Given the description of an element on the screen output the (x, y) to click on. 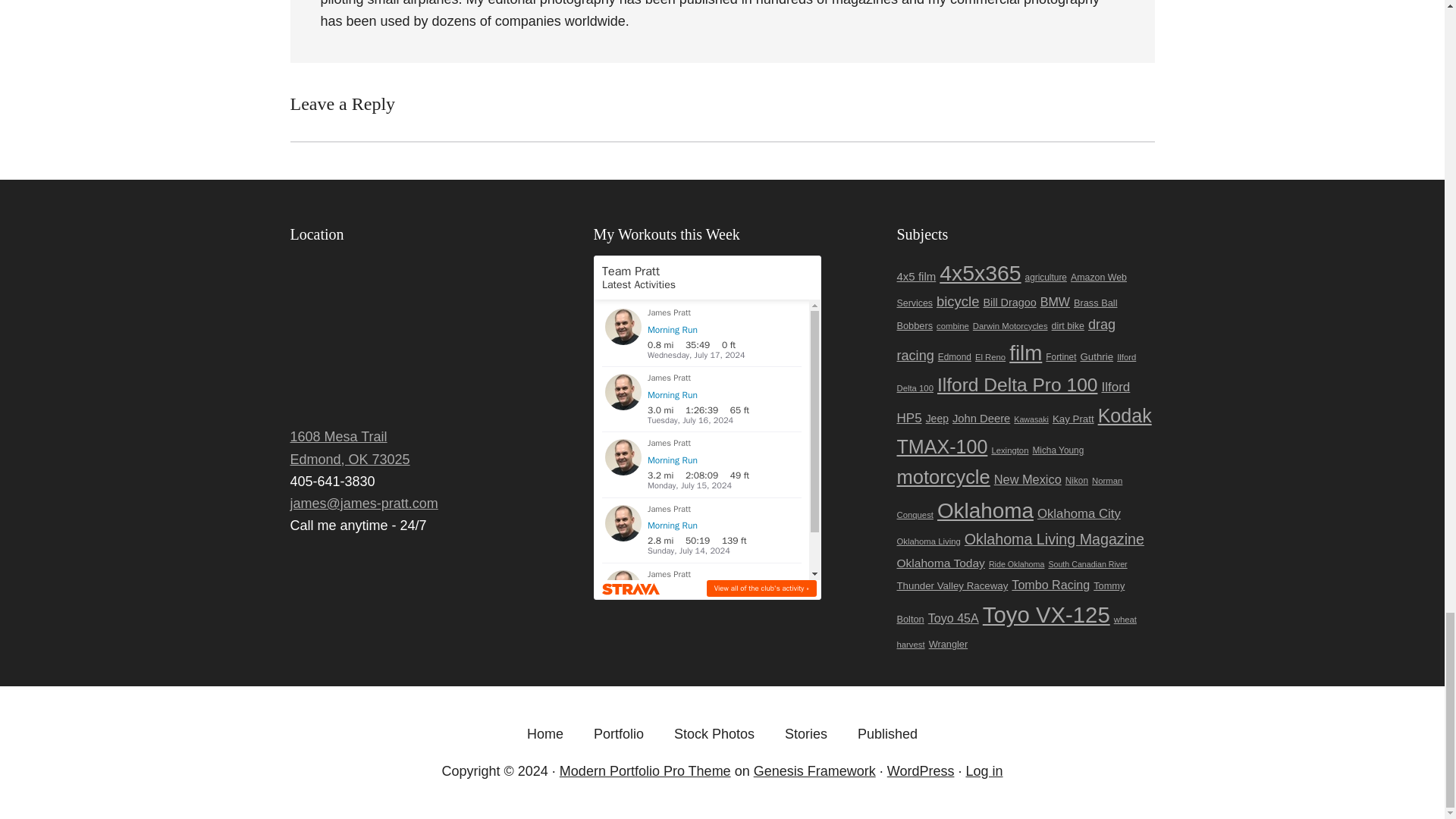
Google Map Embed (418, 337)
